Given the description of an element on the screen output the (x, y) to click on. 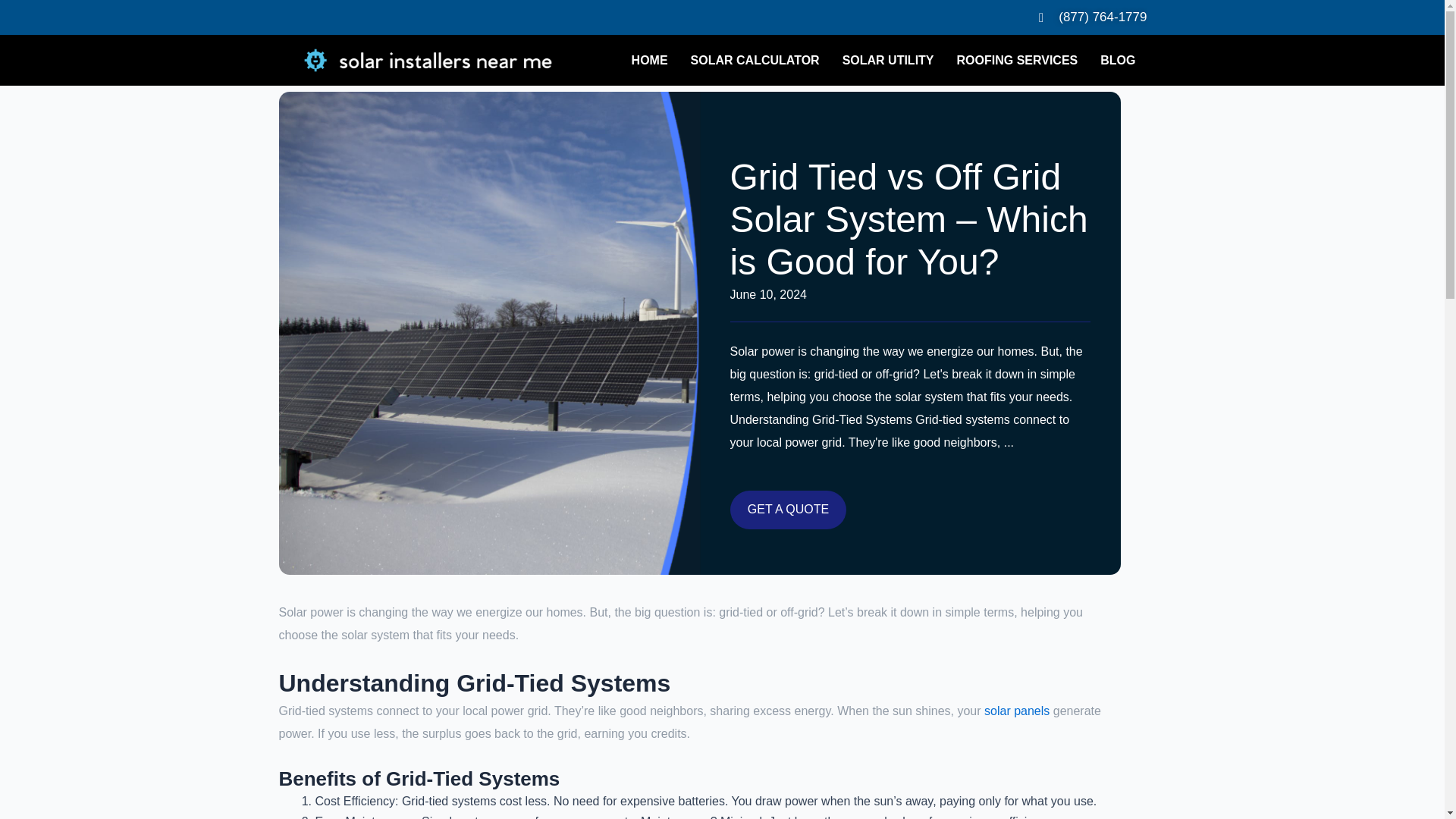
ROOFING SERVICES (1016, 60)
HOME (649, 60)
BLOG (1118, 60)
SOLAR CALCULATOR (755, 60)
solar panels (1016, 710)
SOLAR UTILITY (887, 60)
GET A QUOTE (787, 509)
